Given the description of an element on the screen output the (x, y) to click on. 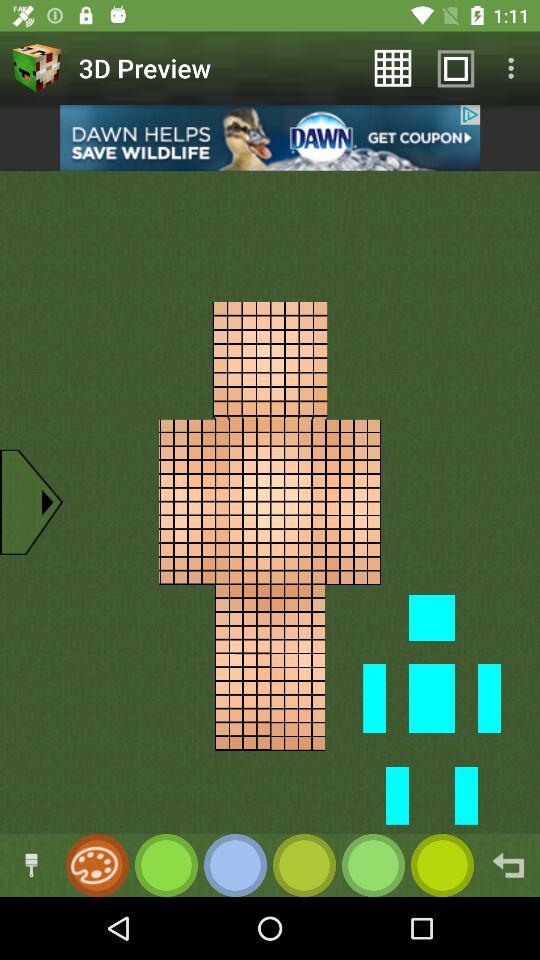
to connect (31, 865)
